Given the description of an element on the screen output the (x, y) to click on. 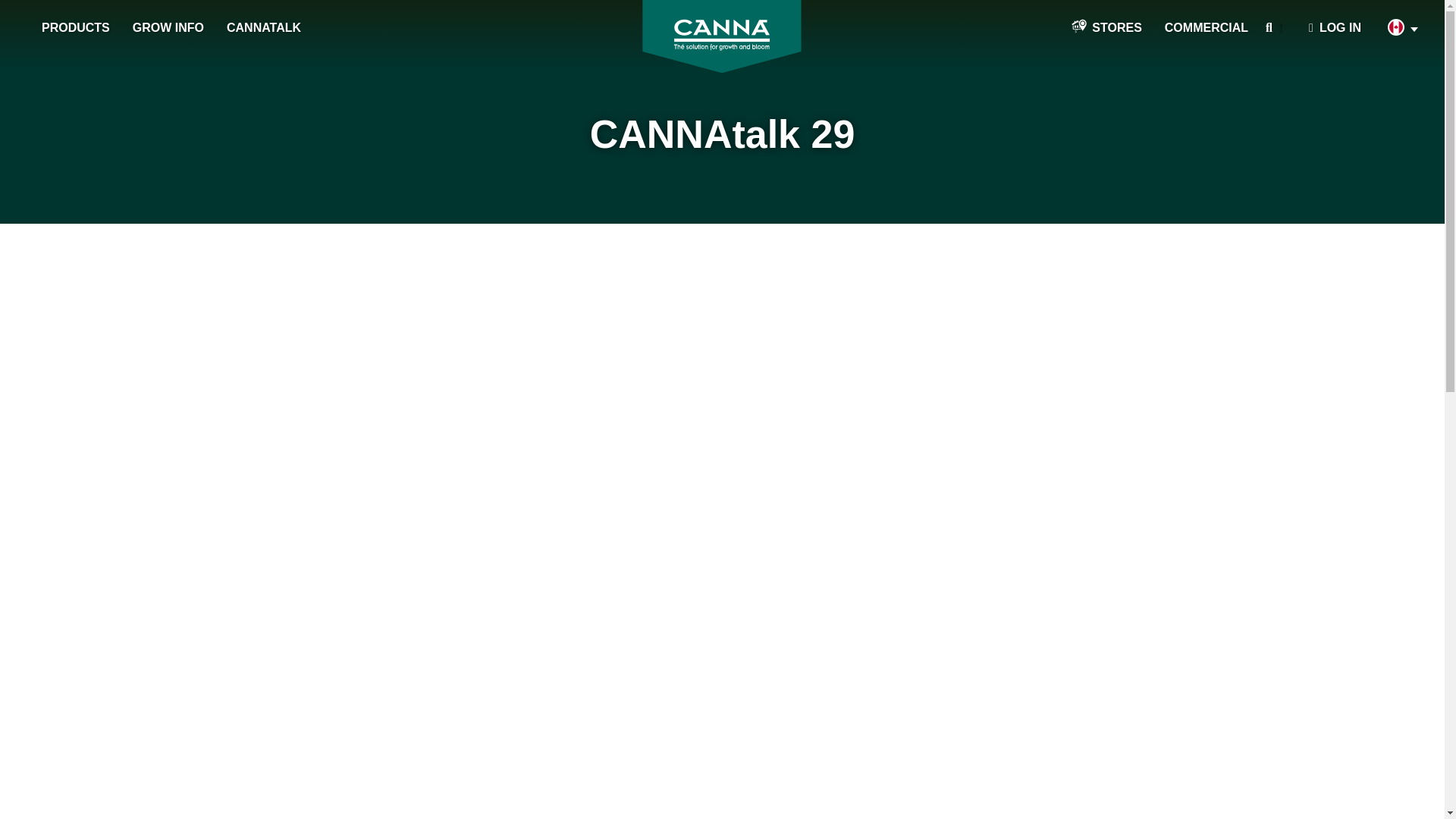
LOG IN (1335, 27)
PRODUCTS (75, 27)
CANNATALK (264, 27)
GROW INFO (167, 27)
COMMERCIAL (1206, 27)
Skip to main content (7, 7)
STORES (1107, 27)
English (1398, 28)
